Given the description of an element on the screen output the (x, y) to click on. 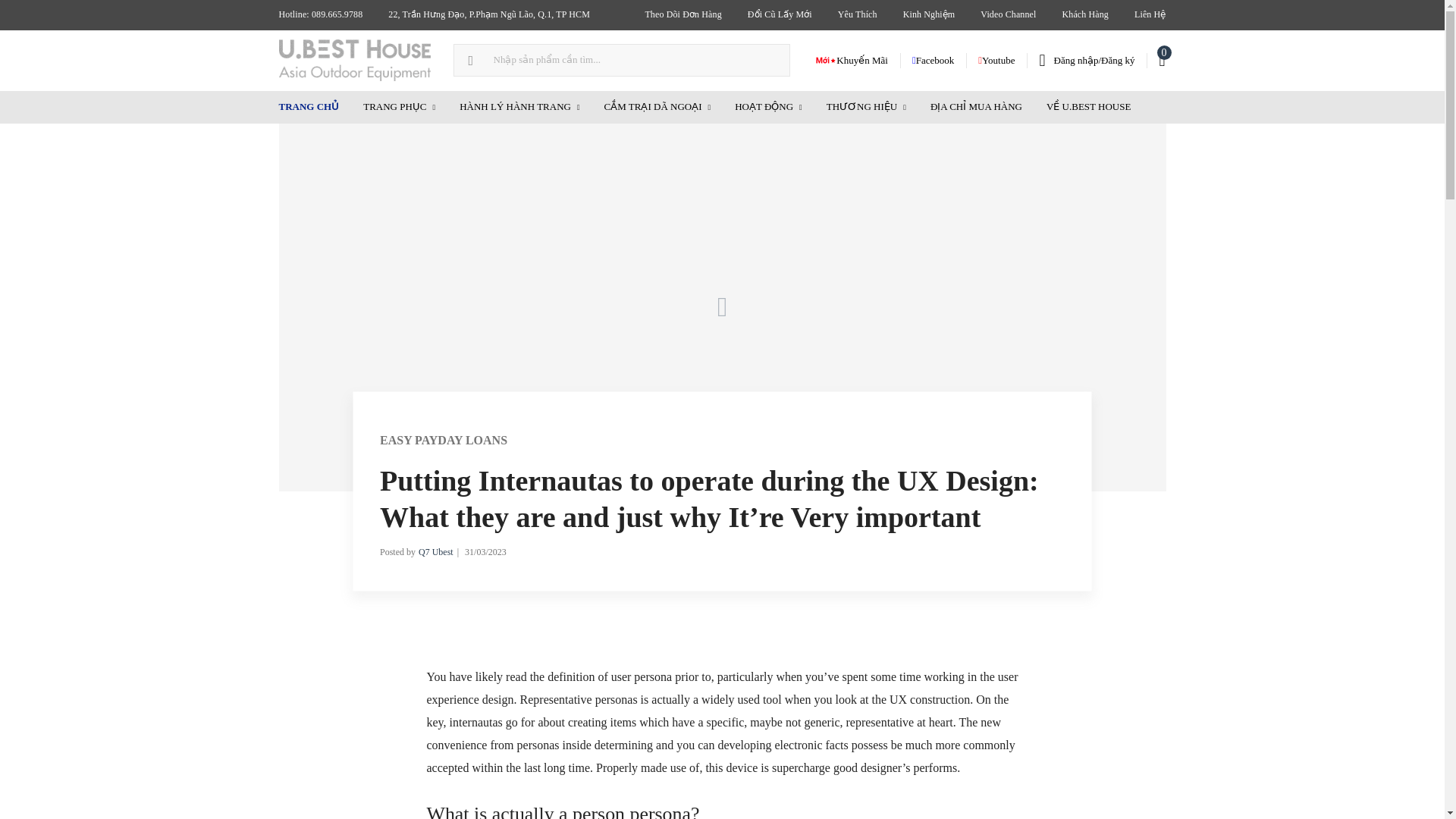
Search (17, 12)
Facebook (932, 60)
Video Channel (1008, 15)
Hotline: 089.665.9788 (319, 15)
Youtube (996, 60)
